Given the description of an element on the screen output the (x, y) to click on. 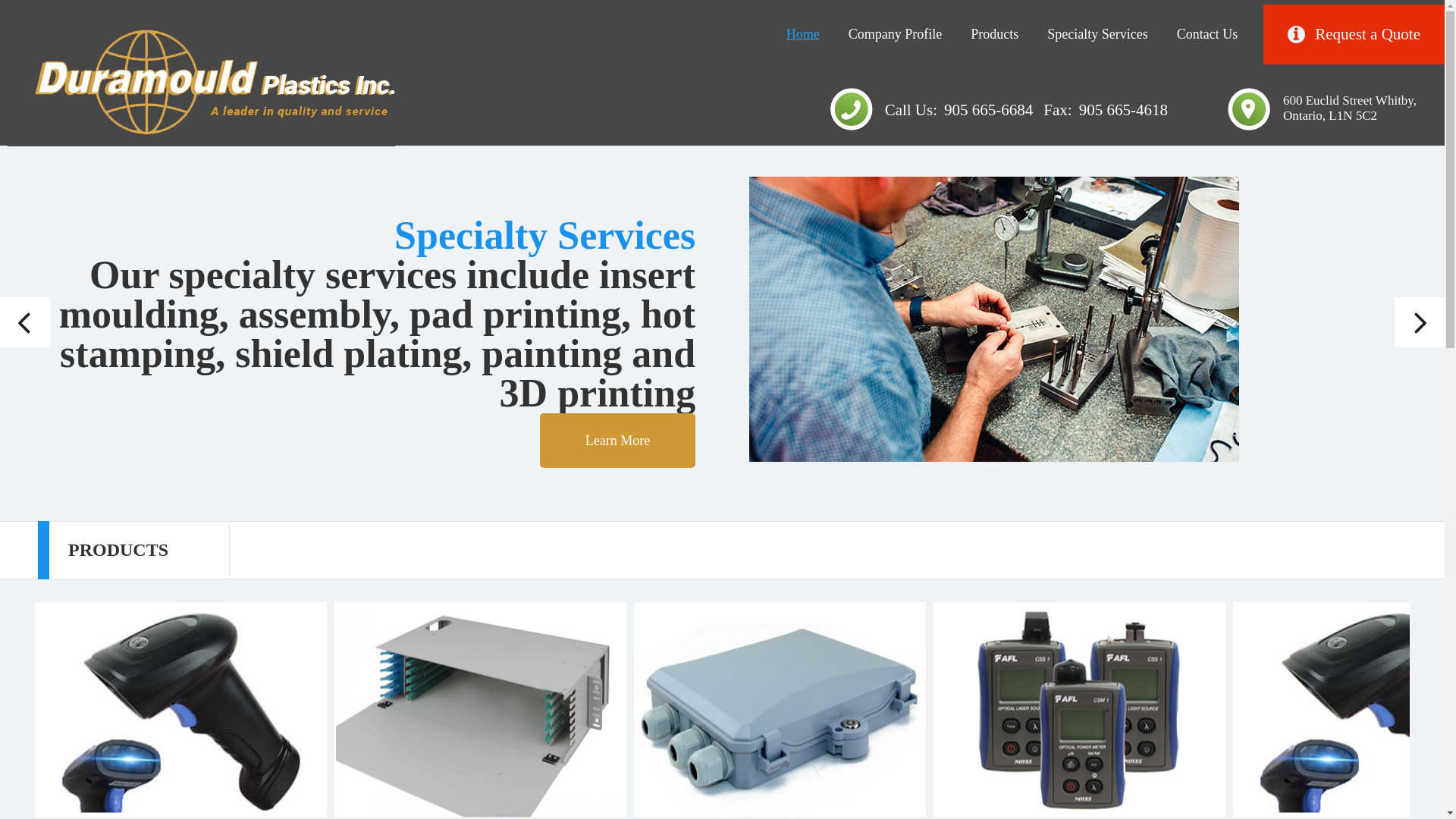
Specialty Services (1096, 34)
Products (994, 34)
Learn More (617, 440)
Home (802, 34)
Specialty Services (1096, 34)
Contact Us (1207, 34)
Home (802, 34)
Meter Equipment (1079, 710)
Bar Code Equipment (180, 710)
Company Profile (895, 34)
Duramould Plastics Inc. (200, 83)
Telecom (779, 710)
Duramould Plastics Inc. (200, 82)
Products (994, 34)
Prev (24, 322)
